Given the description of an element on the screen output the (x, y) to click on. 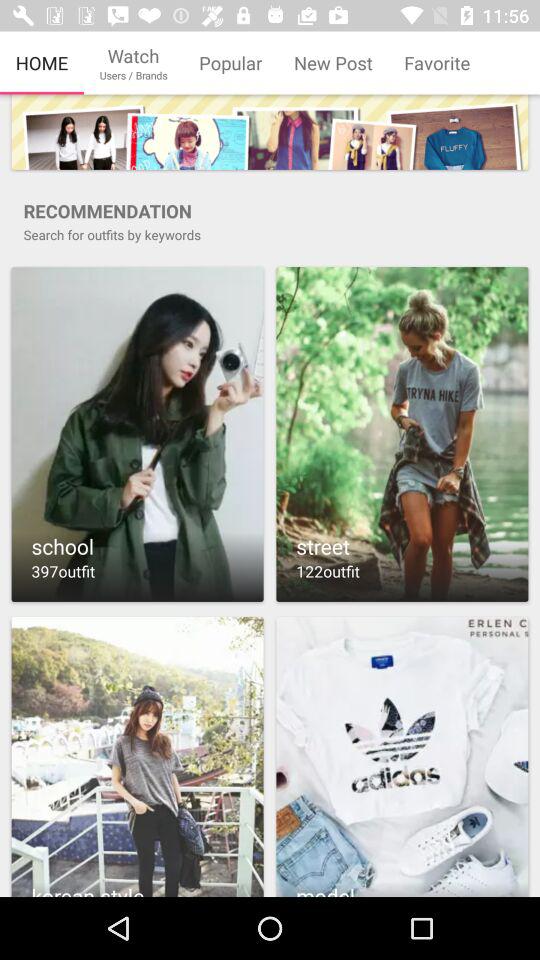
view larger picture (402, 756)
